Given the description of an element on the screen output the (x, y) to click on. 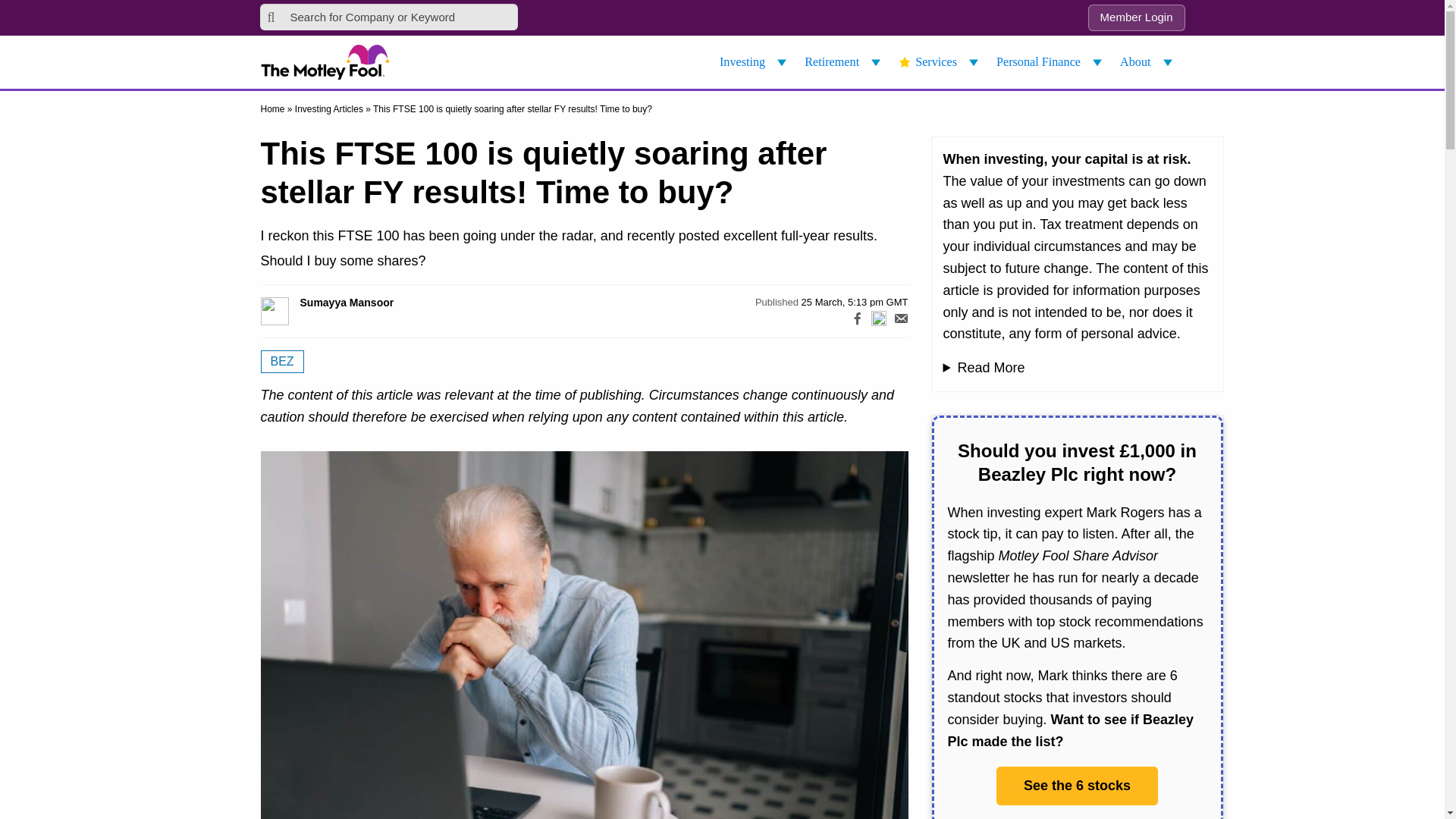
Services (941, 62)
Investing (755, 62)
Member Login (1136, 17)
See more articles about BEZ (282, 361)
Retirement (844, 62)
